Given the description of an element on the screen output the (x, y) to click on. 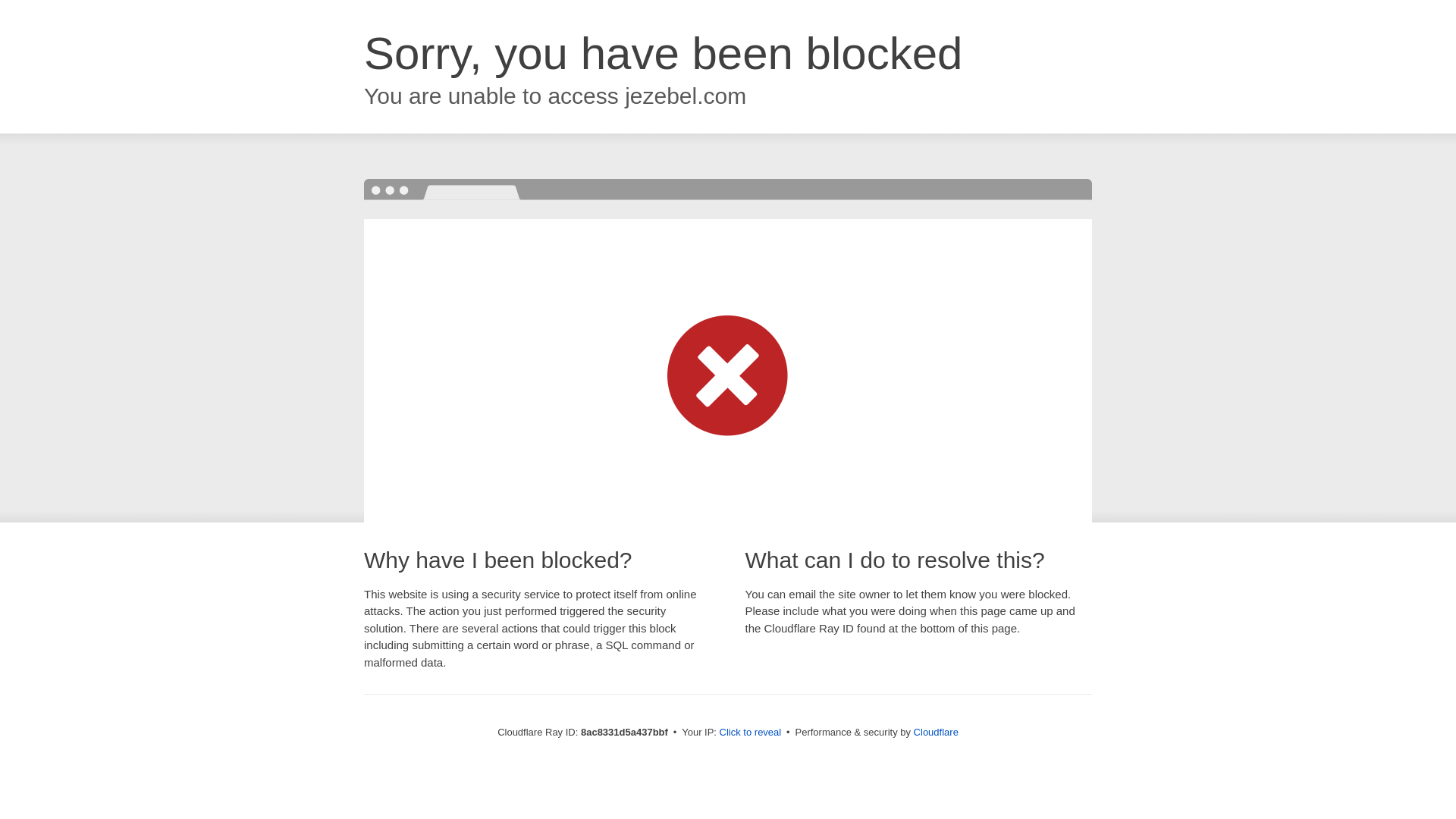
Cloudflare (936, 731)
Click to reveal (750, 732)
